Given the description of an element on the screen output the (x, y) to click on. 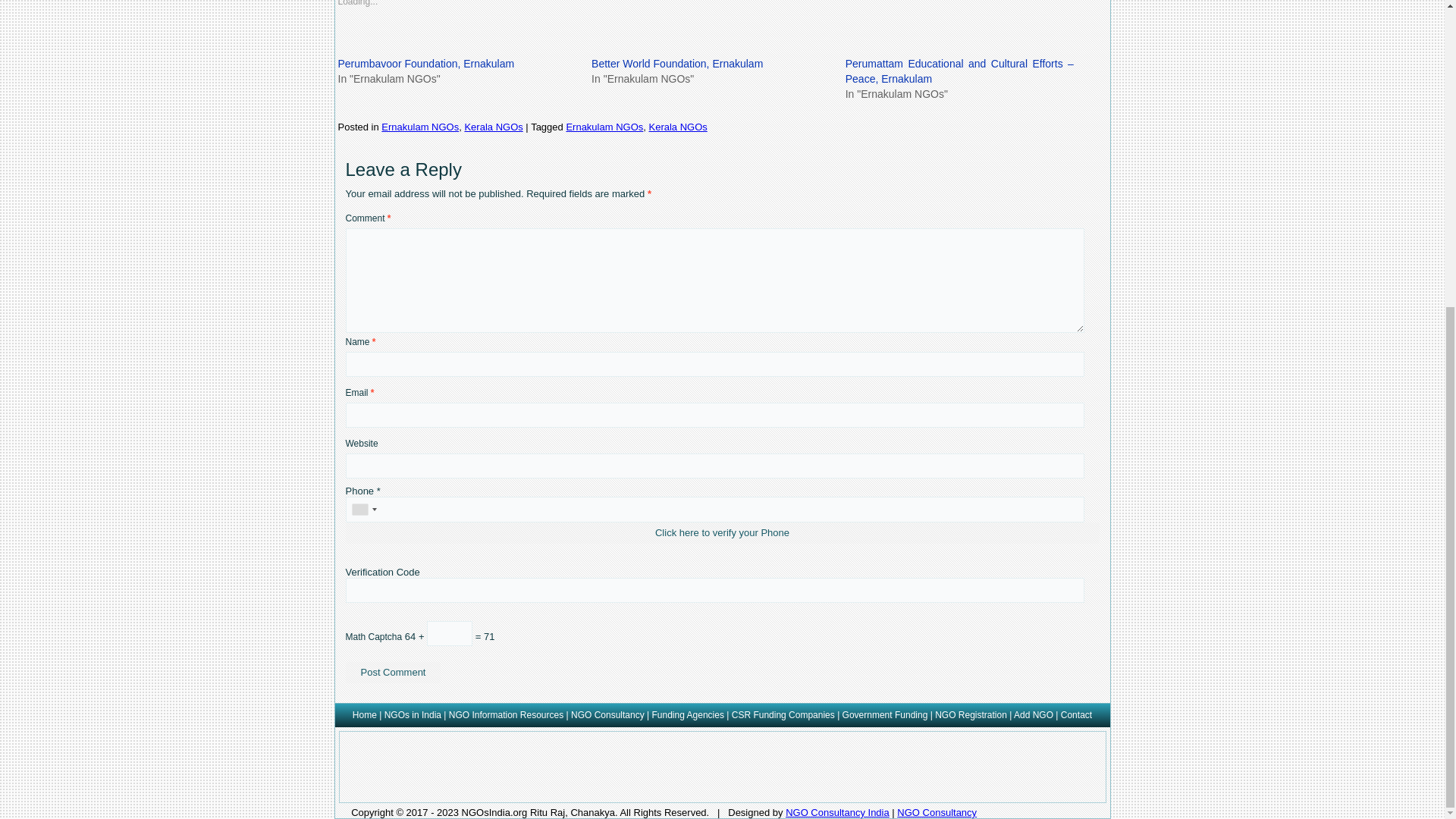
Click here to verify your Phone (722, 532)
Post Comment (393, 672)
